Given the description of an element on the screen output the (x, y) to click on. 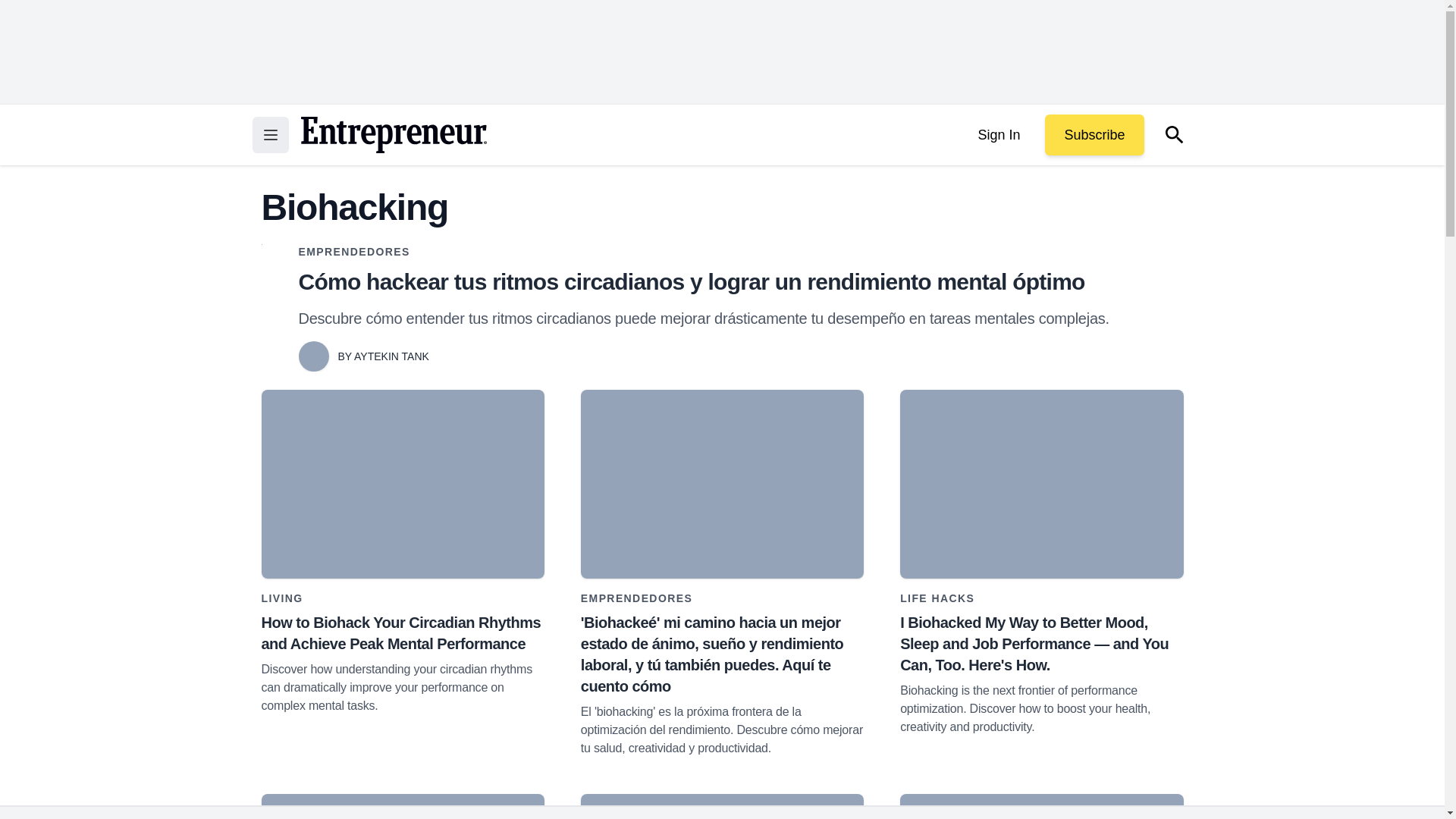
Return to the home page (392, 135)
Sign In (998, 134)
Subscribe (1093, 134)
